Given the description of an element on the screen output the (x, y) to click on. 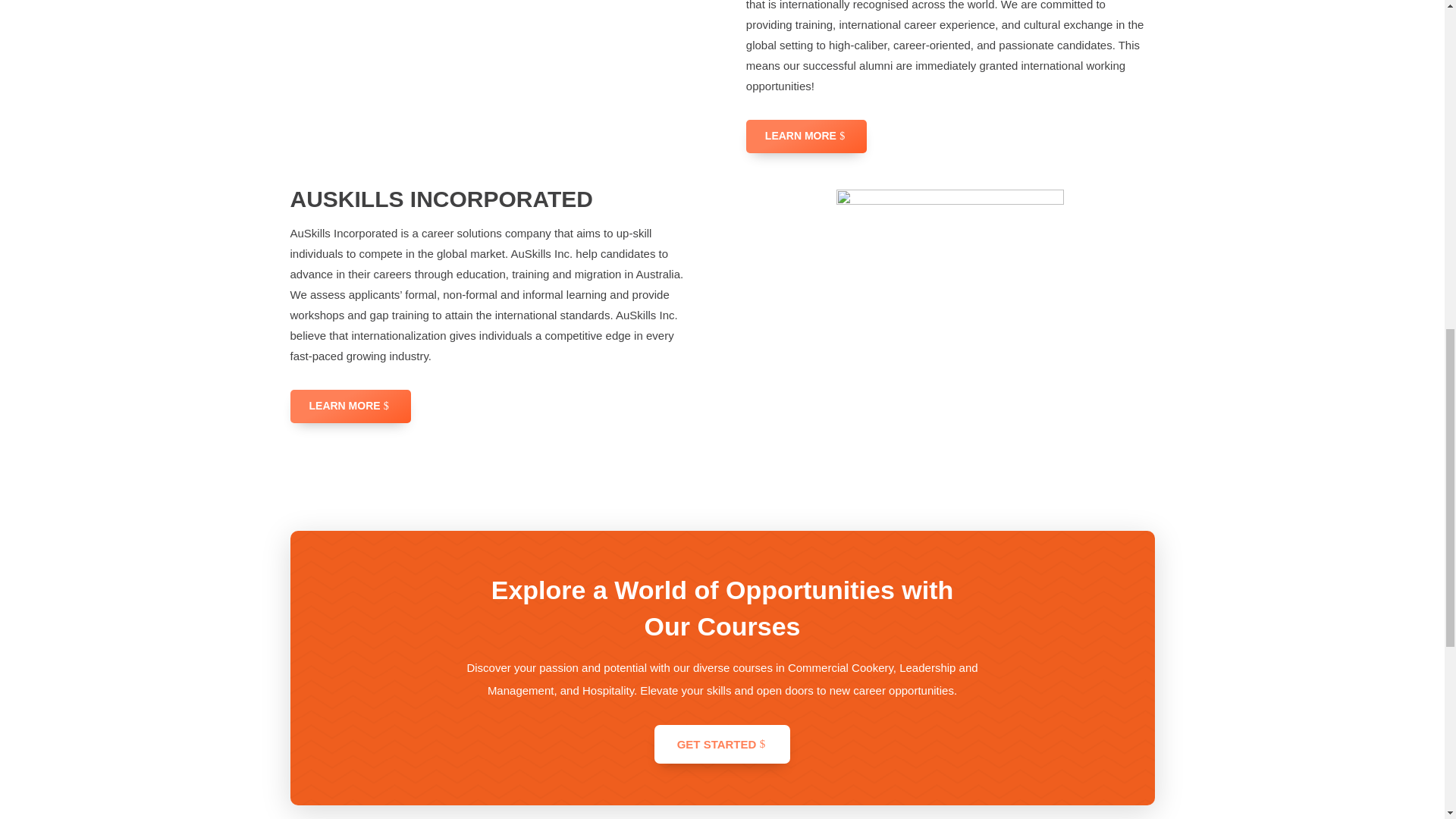
LEARN MORE (805, 136)
Auskills-Logo (949, 302)
GET STARTED (721, 744)
LEARN MORE (349, 406)
Ausphin-International-Institute-Australia-Logo (493, 41)
